Given the description of an element on the screen output the (x, y) to click on. 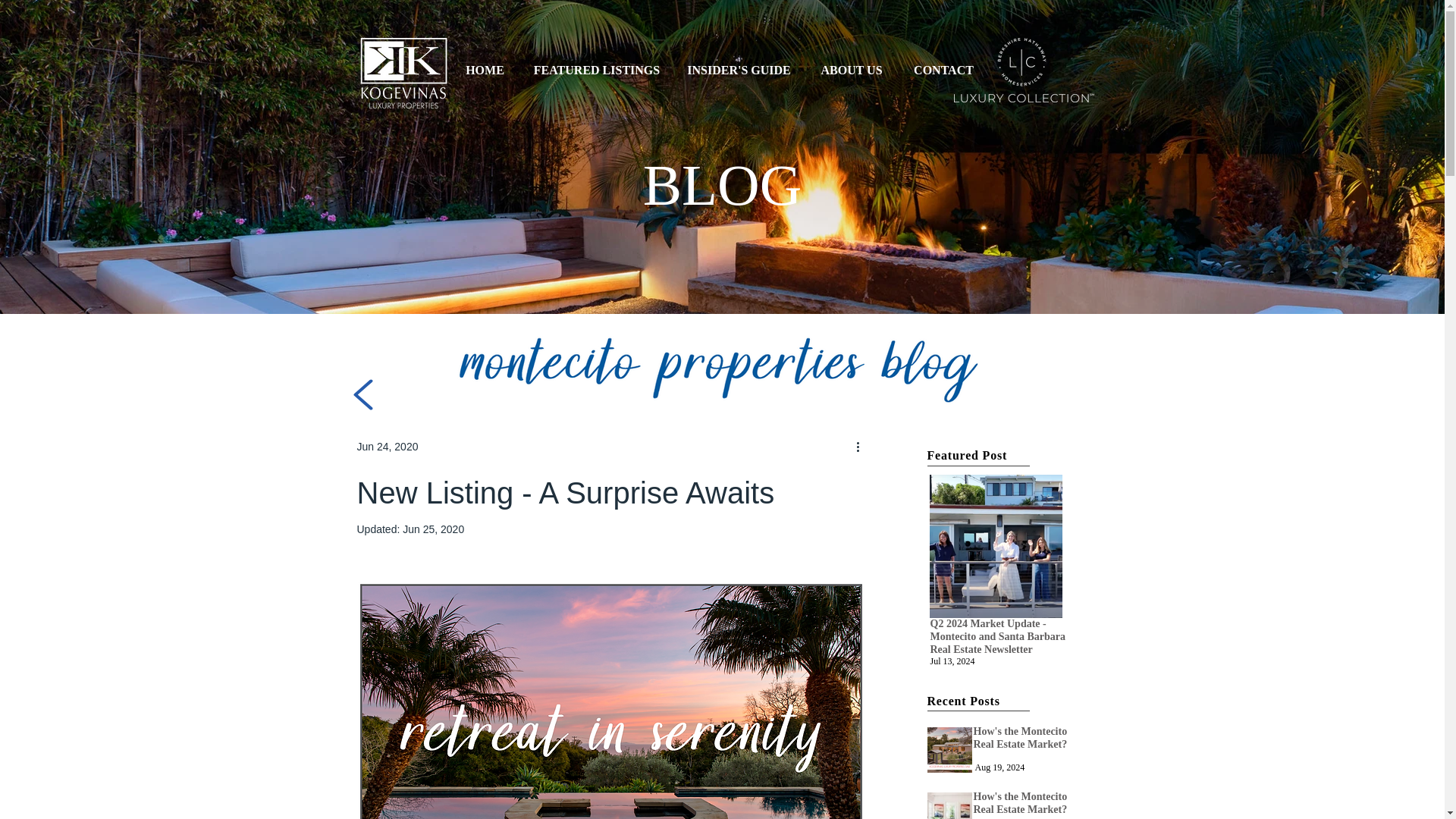
INSIDER'S GUIDE (737, 69)
HOME (484, 69)
Jun 25, 2020 (433, 529)
CONTACT (943, 69)
How's the Montecito Real Estate Market?  (948, 805)
Jun 24, 2020 (386, 445)
How's the Montecito Real Estate Market?  (948, 750)
ABOUT US (850, 69)
